Given the description of an element on the screen output the (x, y) to click on. 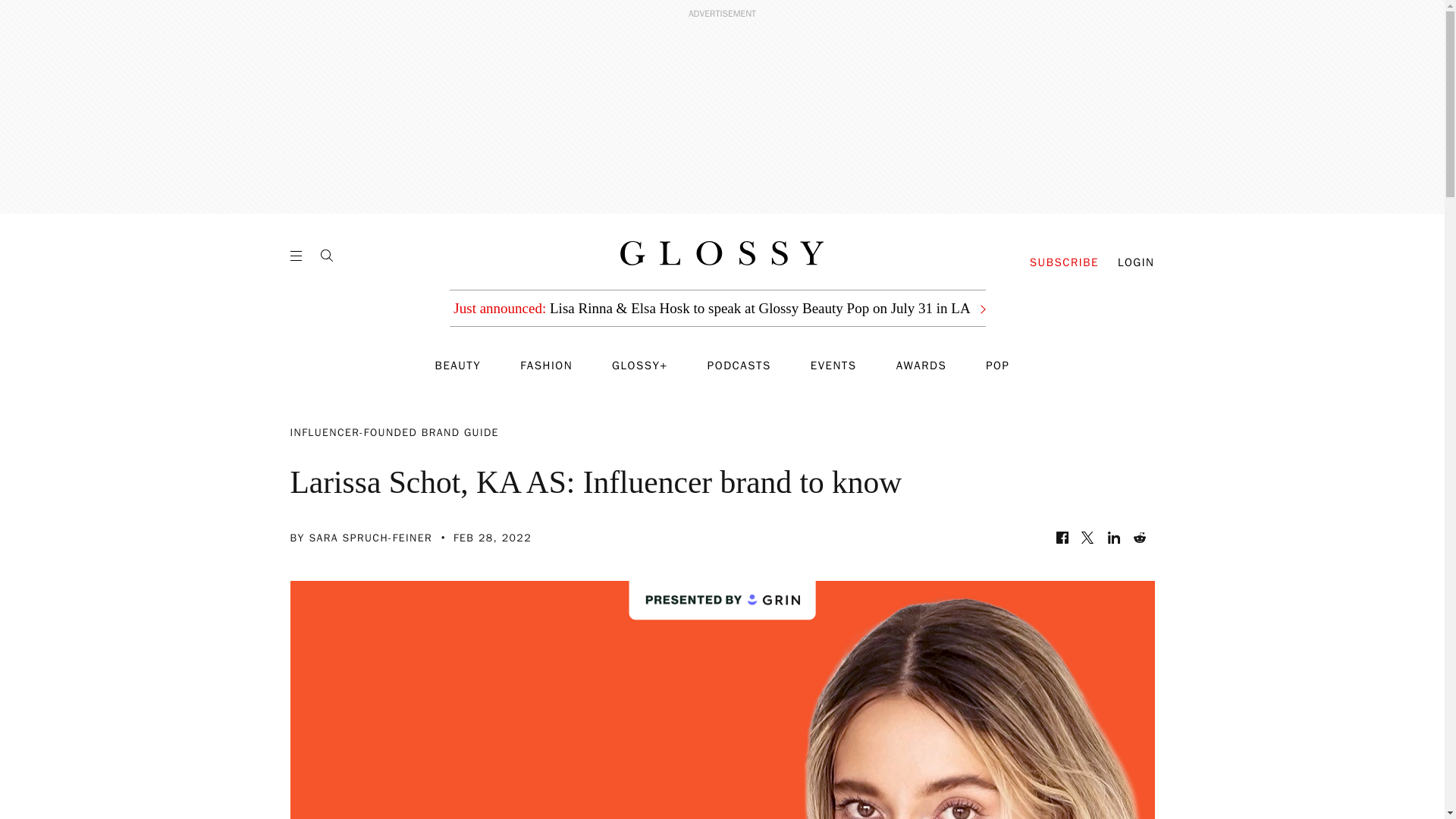
SUBSCRIBE (1064, 262)
AWARDS (921, 365)
LOGIN (1136, 262)
EVENTS (833, 365)
BEAUTY (458, 365)
FASHION (545, 365)
POP (997, 365)
PODCASTS (739, 365)
